Given the description of an element on the screen output the (x, y) to click on. 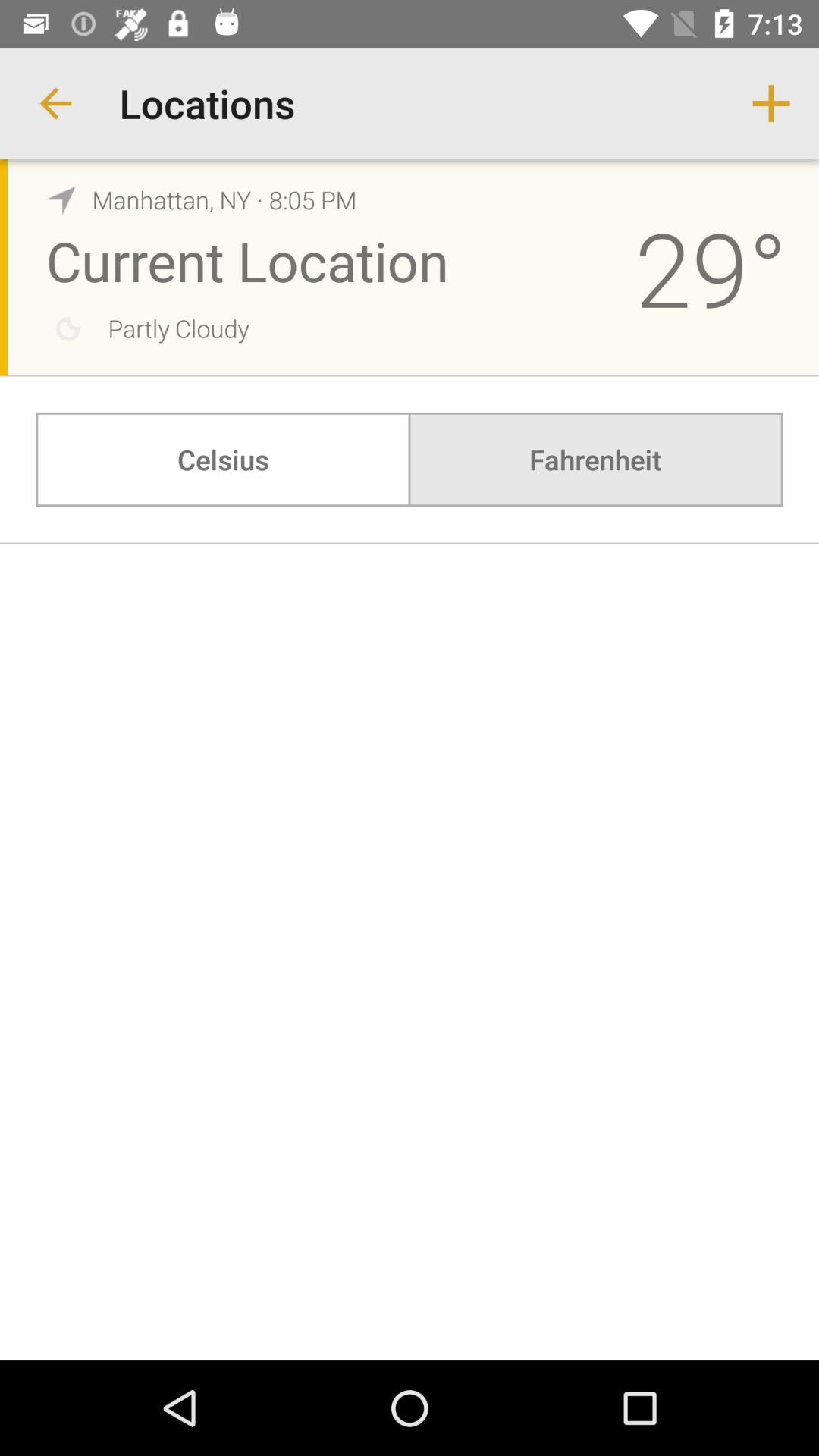
press app to the left of locations item (55, 103)
